Given the description of an element on the screen output the (x, y) to click on. 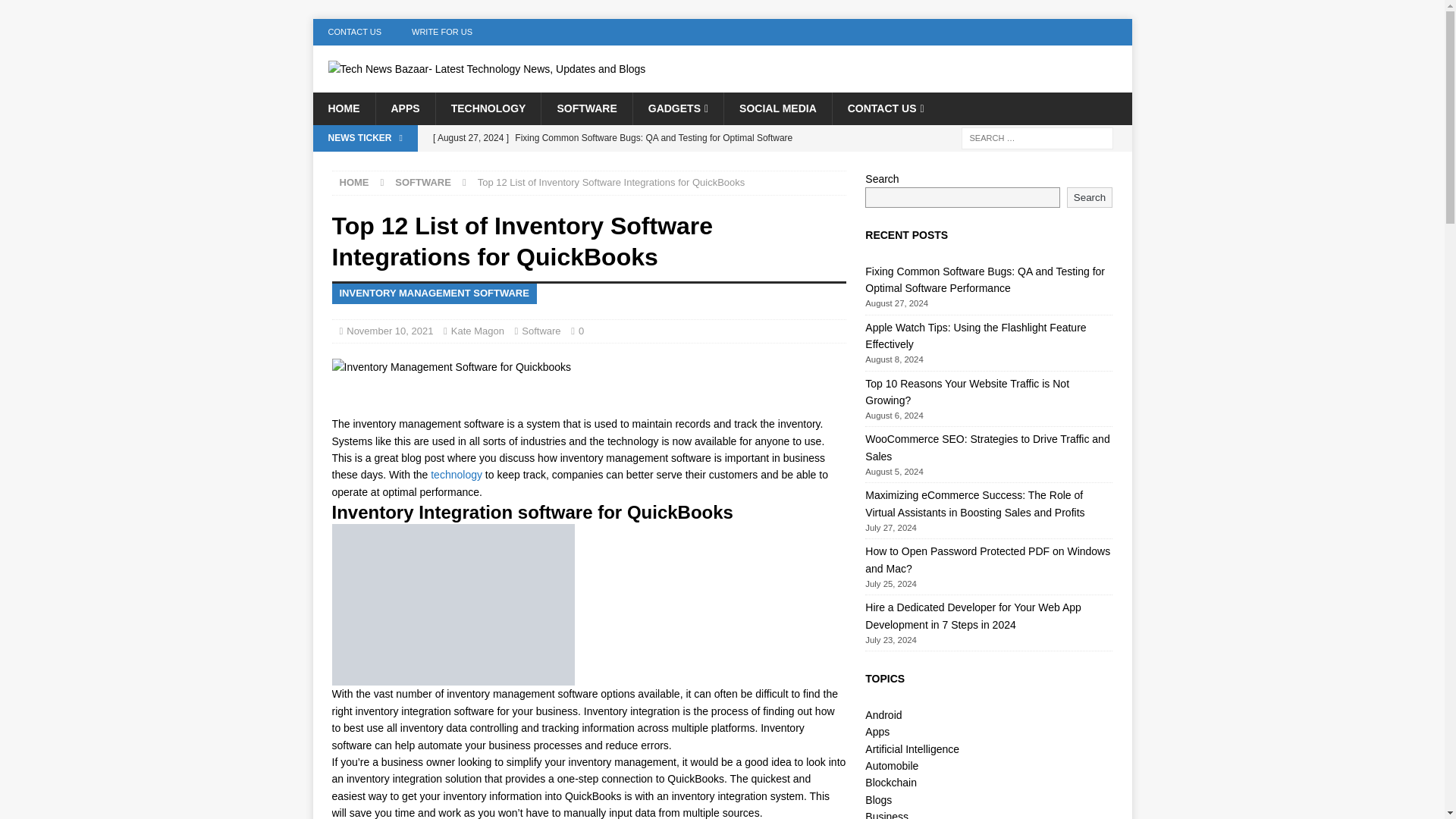
technology (455, 474)
TECHNOLOGY (488, 108)
Search (56, 11)
Software (540, 330)
WRITE FOR US (441, 31)
CONTACT US (885, 108)
Kate Magon (477, 330)
APPS (403, 108)
SOCIAL MEDIA (777, 108)
HOME (343, 108)
